Given the description of an element on the screen output the (x, y) to click on. 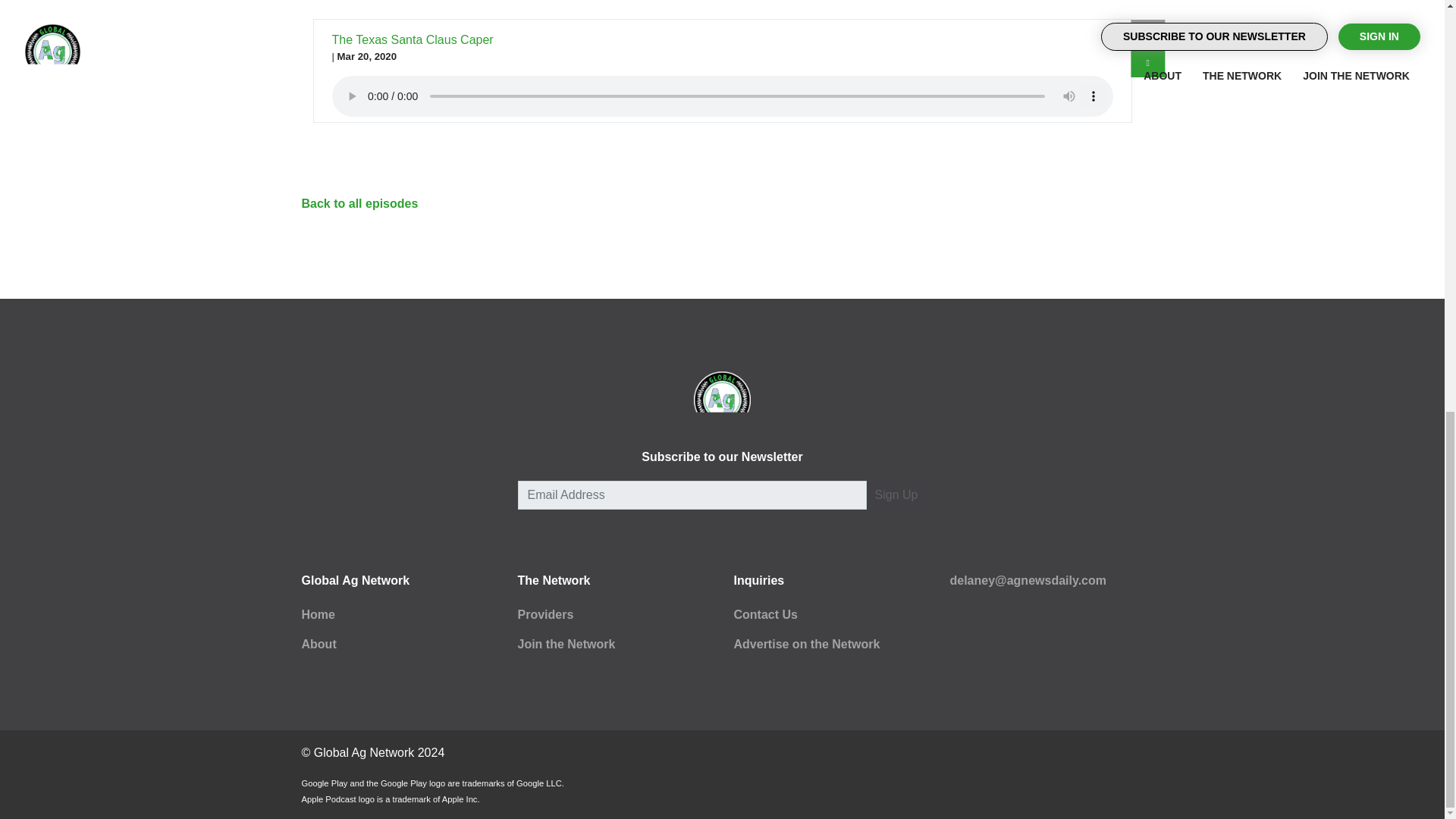
Sign Up (896, 494)
Providers (544, 614)
Contact Us (765, 614)
The Texas Santa Claus Caper (412, 39)
Join the Network (565, 644)
Advertise on the Network (806, 644)
Back to all episodes (360, 203)
Embed This Episode (1147, 33)
About (318, 644)
Home (317, 614)
